Given the description of an element on the screen output the (x, y) to click on. 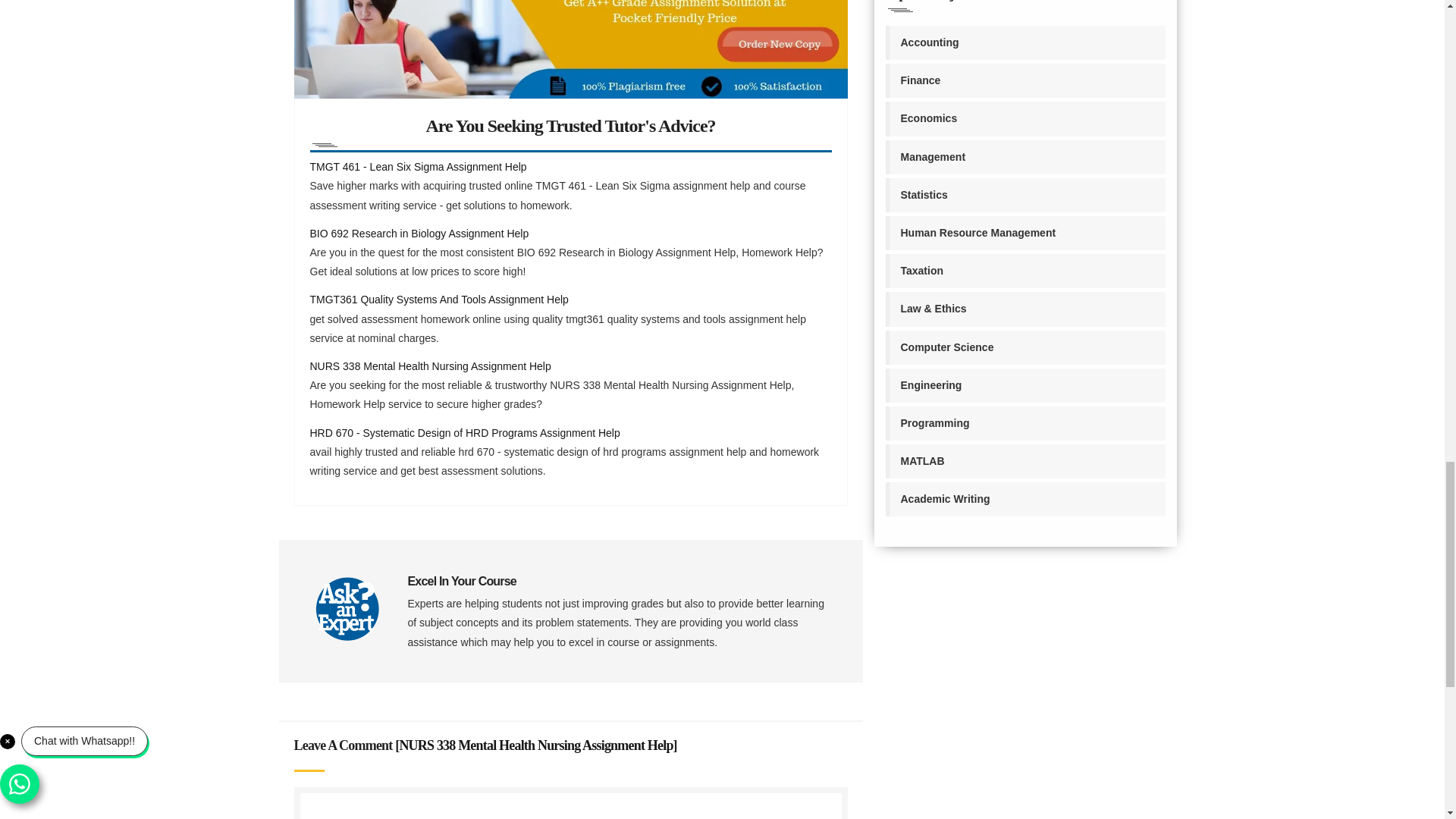
HRD 670 - Systematic Design of HRD Programs Assignment Help (464, 431)
Statistics assignment help (1025, 195)
HRM assignment help (1025, 233)
NURS 338 Mental Health Nursing Assignment Help (429, 366)
accounting assignment help (1025, 42)
TMGT361 Quality Systems And Tools Assignment Help (437, 299)
NURS 338 Mental Health Nursing Assignment Help (429, 366)
BIO 692 Research in Biology Assignment Help (418, 233)
BIO 692 Research in Biology Assignment Help (418, 233)
HRD 670 - Systematic Design of HRD Programs Assignment Help (464, 431)
Engineering assignment help (1025, 385)
Economics assignment help (1025, 118)
TMGT 461 - Lean Six Sigma Assignment Help (416, 166)
TMGT361 Quality Systems And Tools Assignment Help (437, 299)
Finance assignment help (1025, 80)
